Given the description of an element on the screen output the (x, y) to click on. 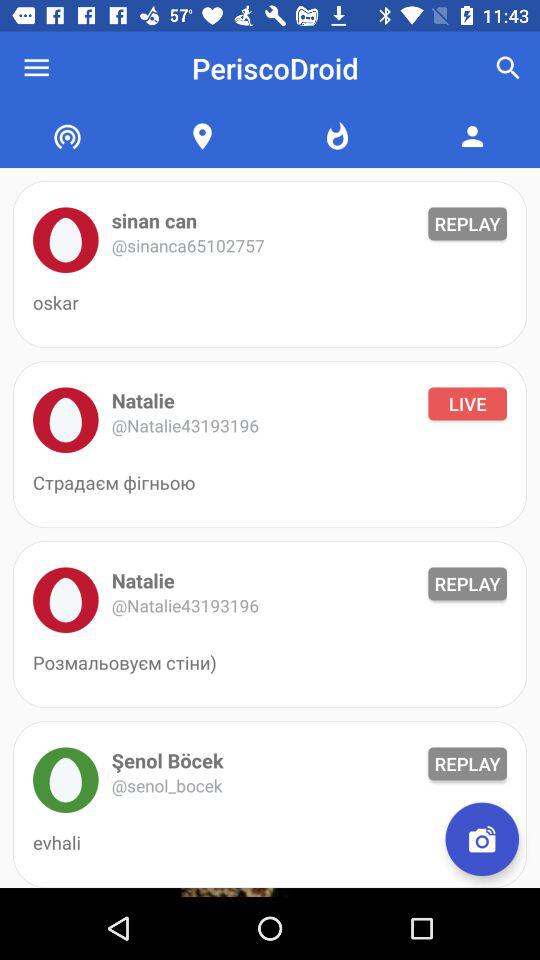
user icon (65, 780)
